Given the description of an element on the screen output the (x, y) to click on. 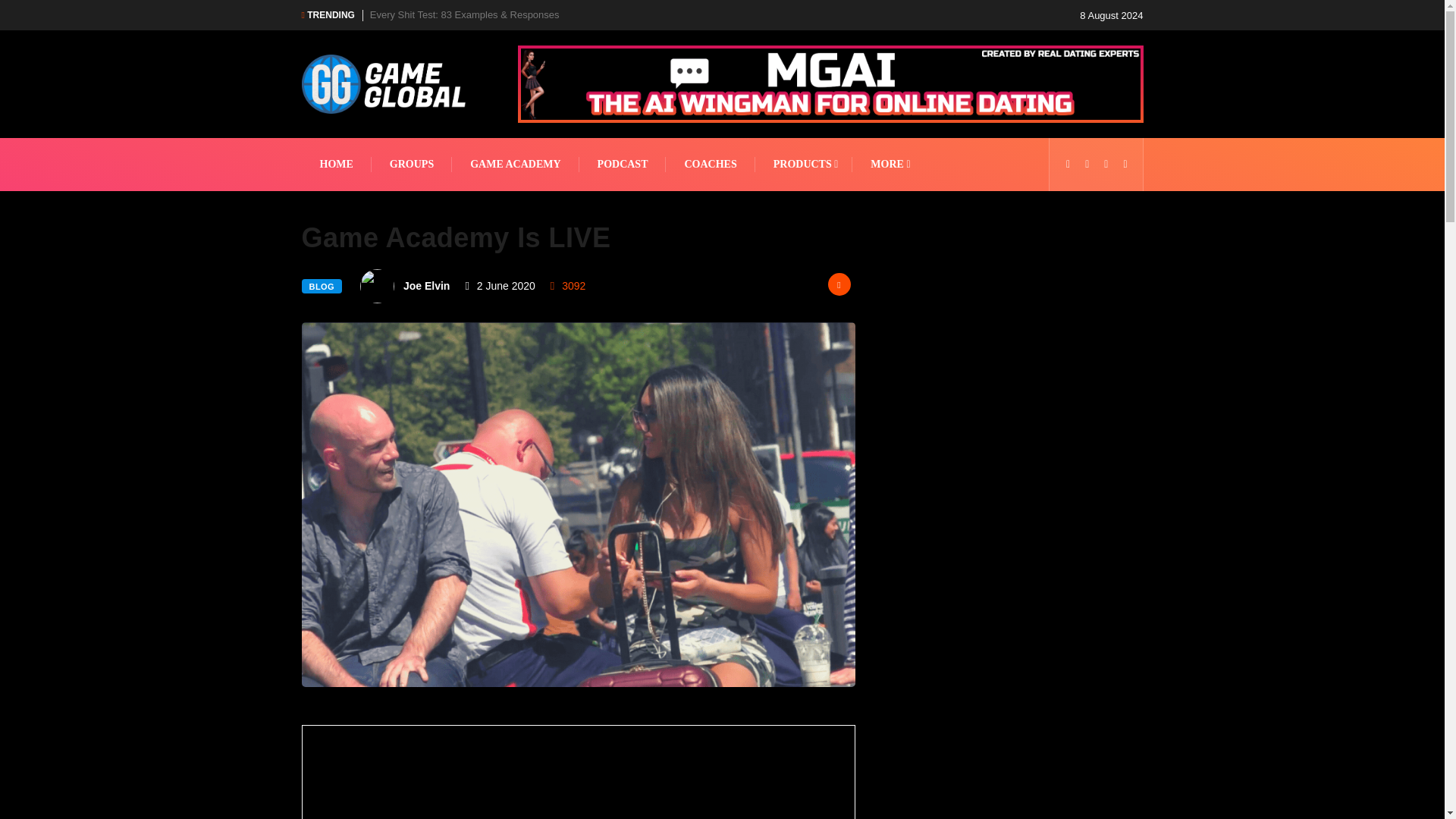
COACHES (710, 164)
PRODUCTS (803, 164)
GAME ACADEMY (515, 164)
Game Academy Is LIVE (578, 771)
PODCAST (621, 164)
